Given the description of an element on the screen output the (x, y) to click on. 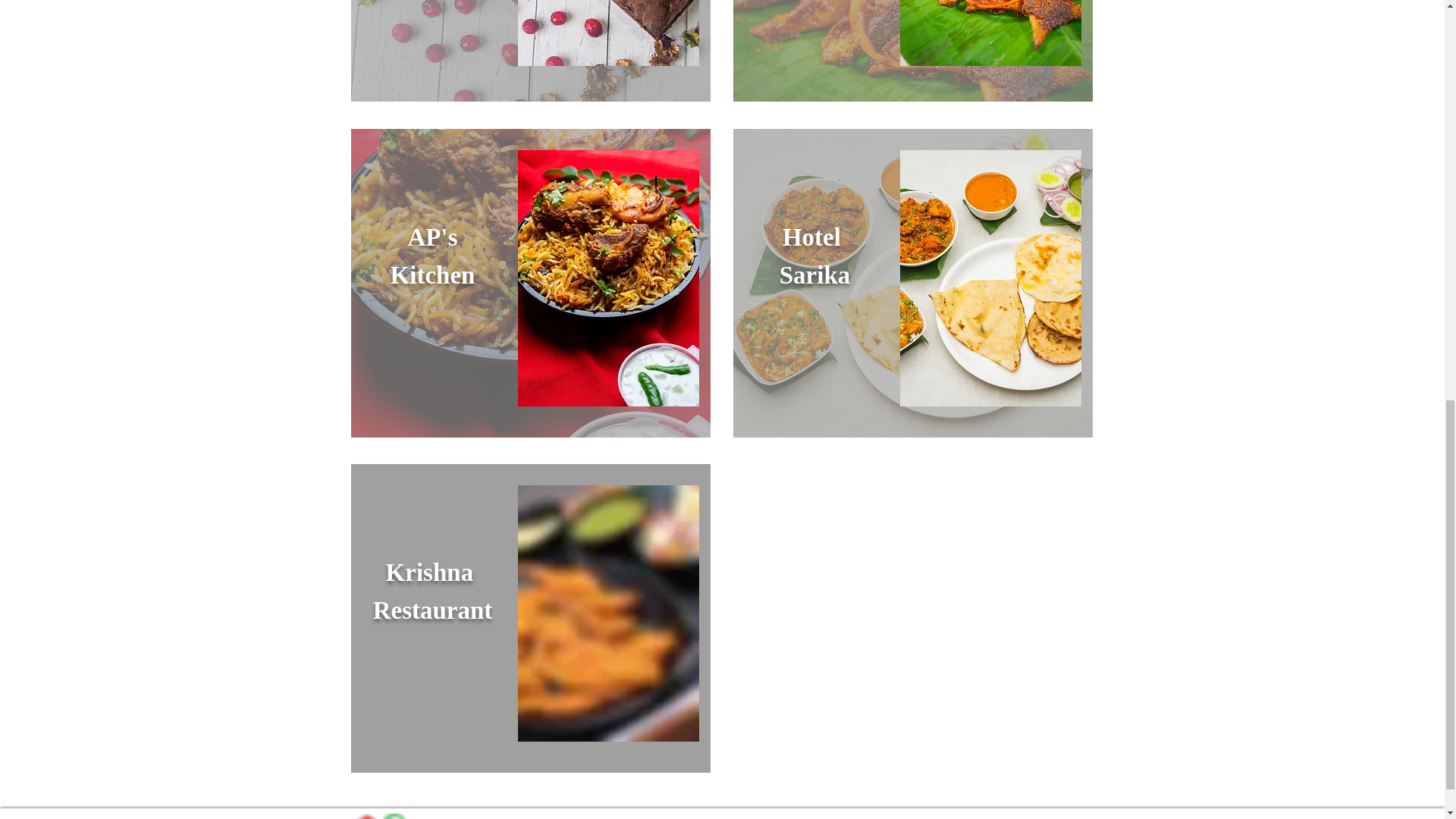
Whats app, Contact, photography, shutterbug (392, 816)
